Given the description of an element on the screen output the (x, y) to click on. 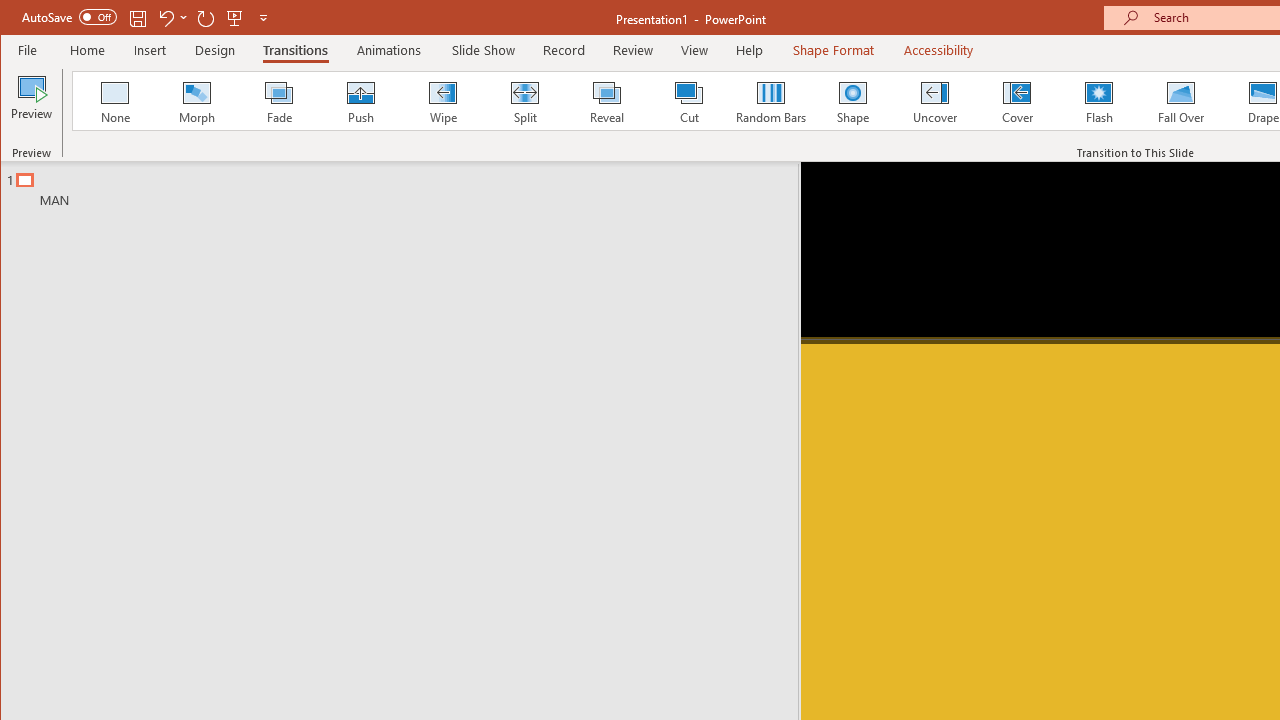
Cover (1016, 100)
Fall Over (1181, 100)
Push (360, 100)
